Given the description of an element on the screen output the (x, y) to click on. 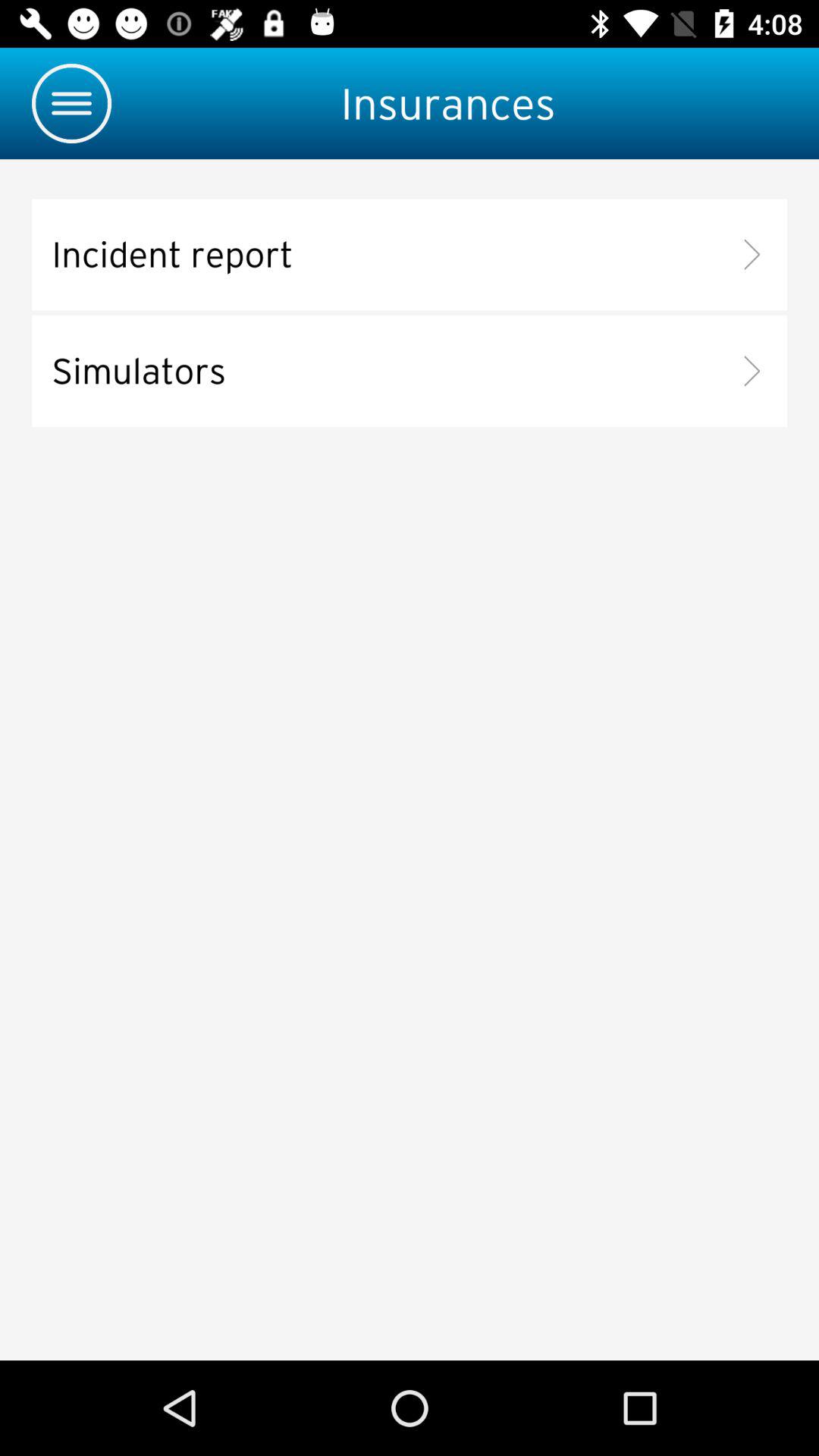
select simulators (409, 371)
